Given the description of an element on the screen output the (x, y) to click on. 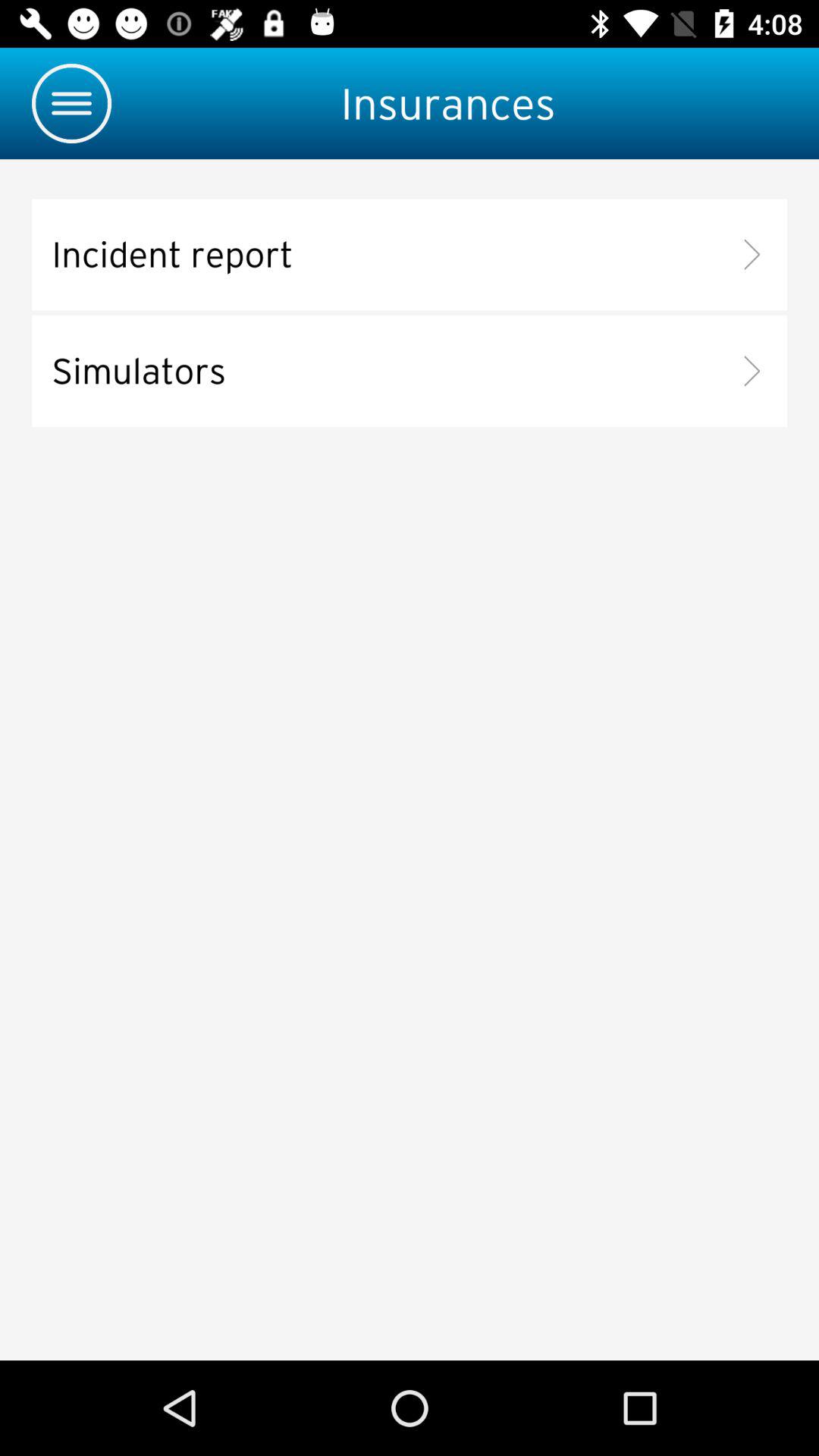
select simulators (409, 371)
